Given the description of an element on the screen output the (x, y) to click on. 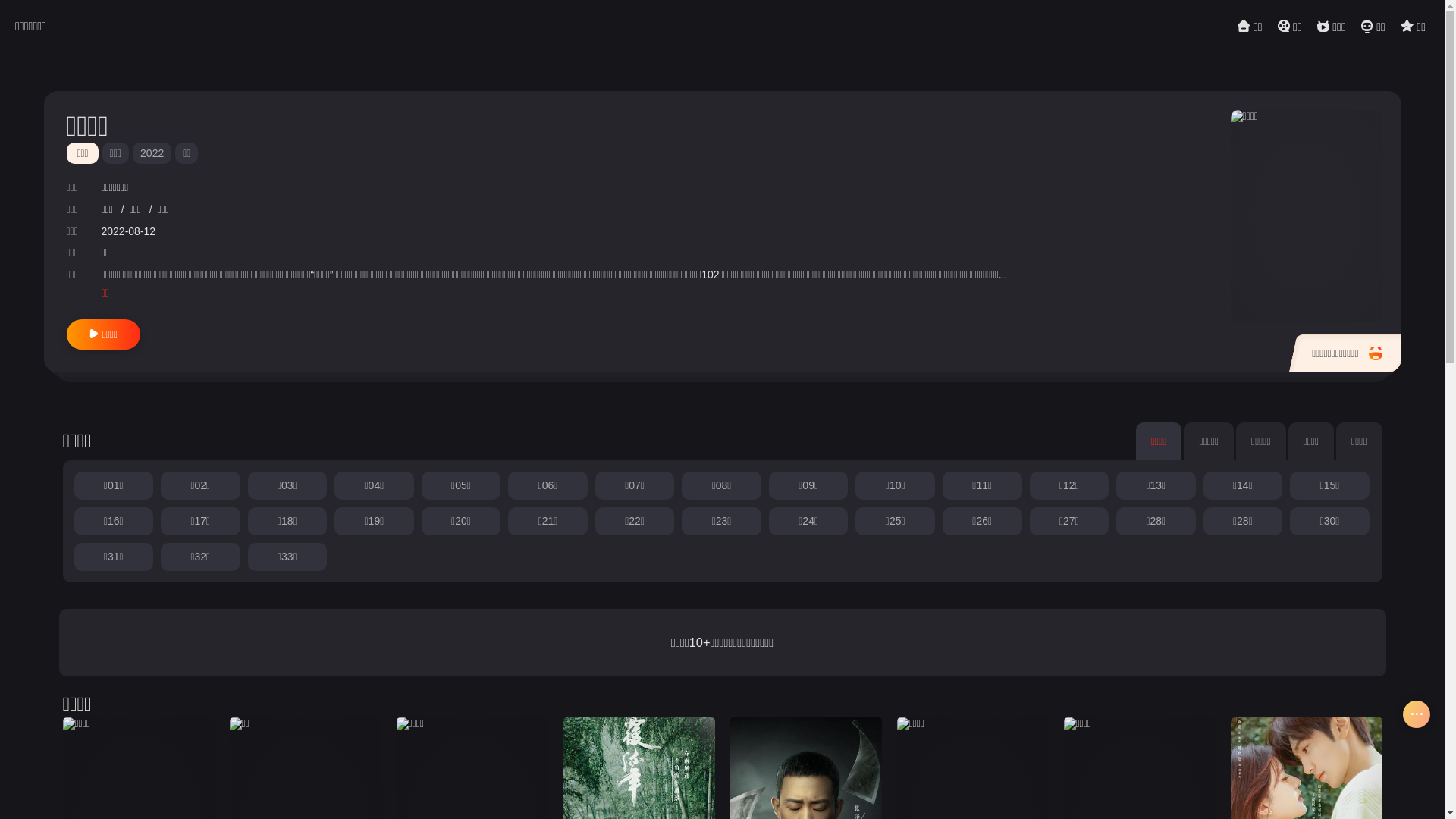
2022 Element type: text (151, 152)
